Given the description of an element on the screen output the (x, y) to click on. 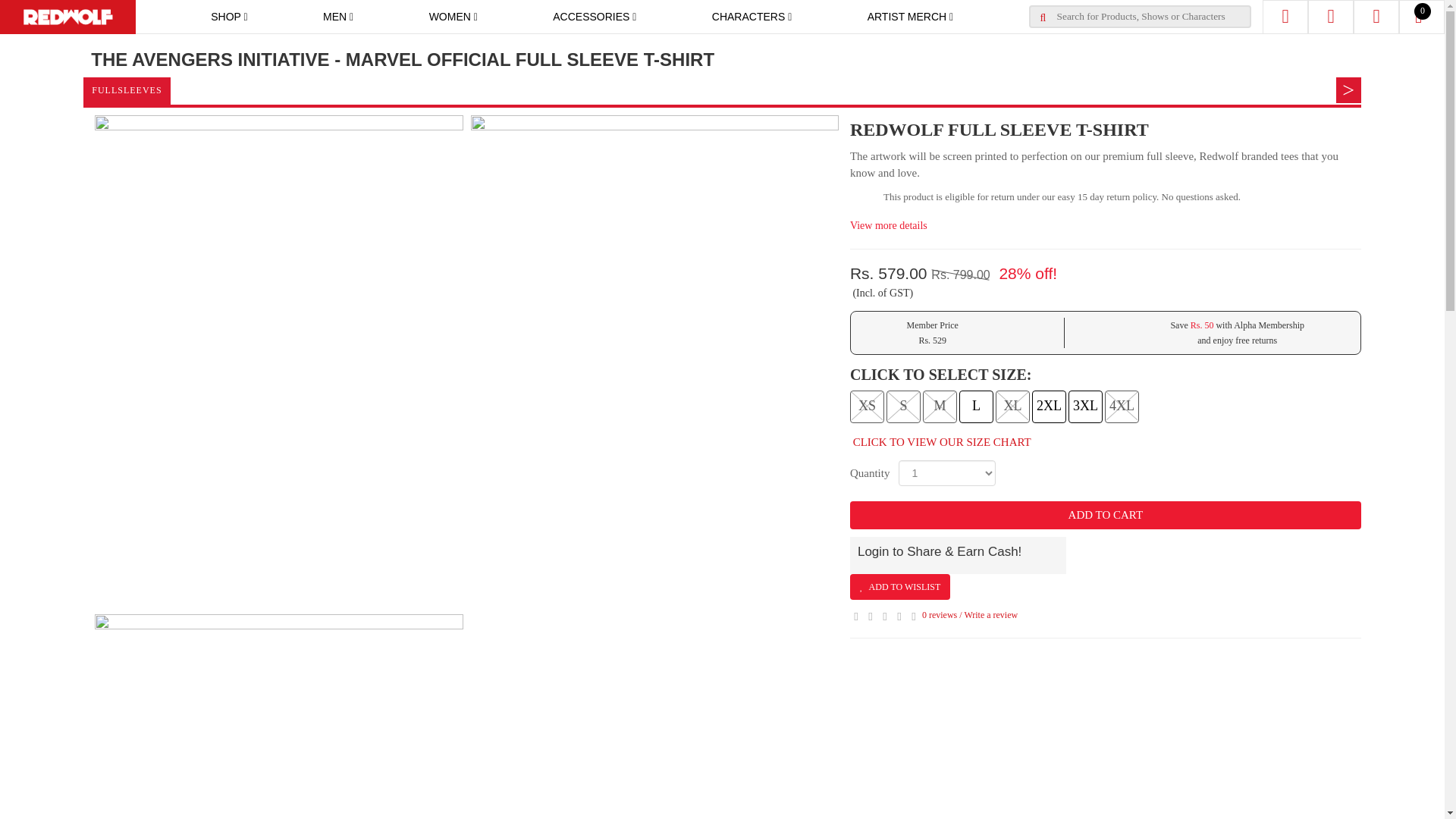
Add to Wish List (900, 586)
323591 (908, 404)
Write a review (990, 614)
323594 (1013, 404)
574012 (1119, 404)
323590 (868, 404)
323595 (1046, 404)
323596 (1083, 404)
323593 (981, 404)
323592 (943, 404)
